Given the description of an element on the screen output the (x, y) to click on. 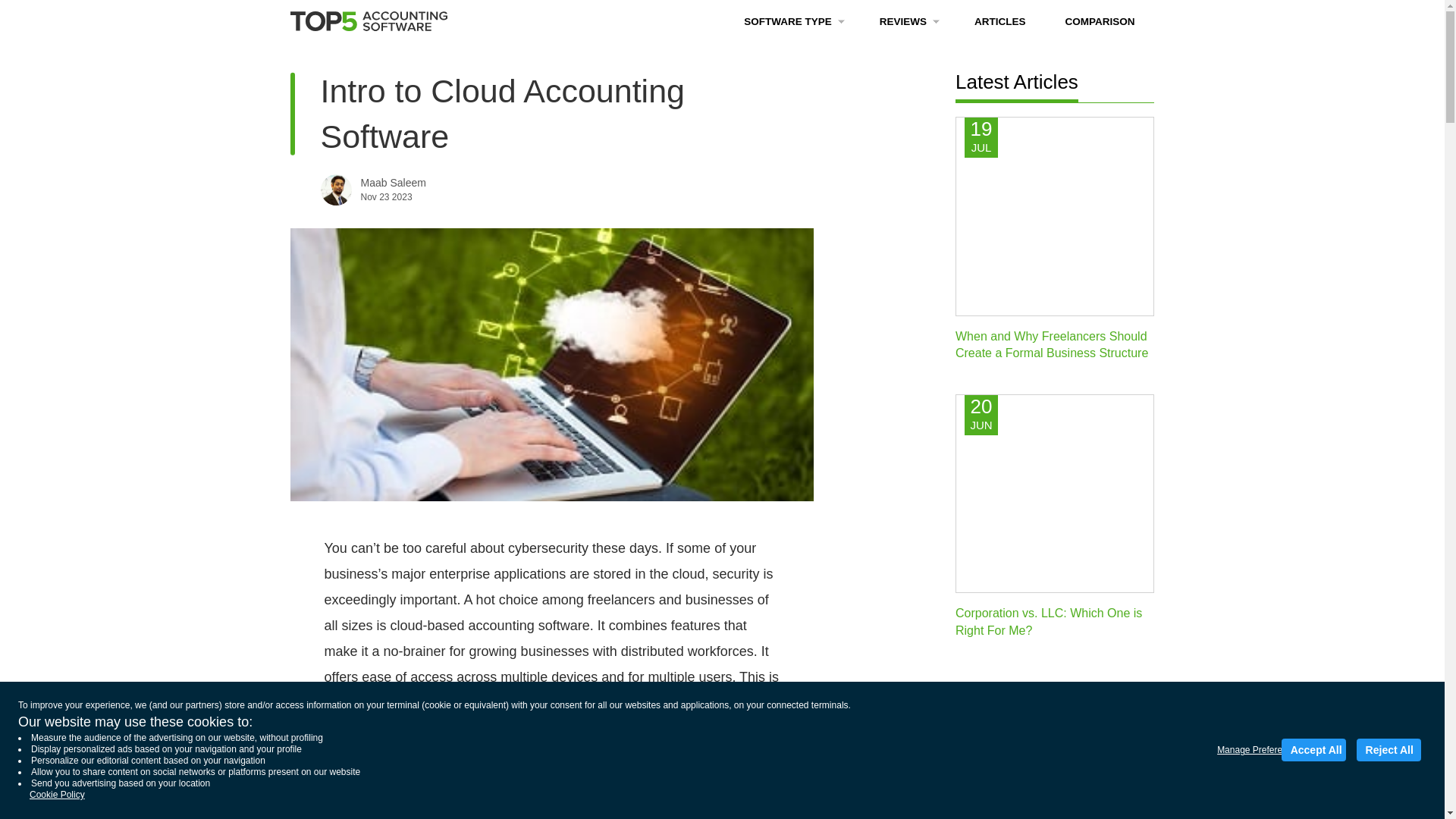
SOFTWARE TYPE (791, 21)
Reject All (1388, 749)
Manage Preferences (1240, 750)
COMPARISON (1099, 21)
REVIEWS (906, 21)
ARTICLES (999, 21)
Accept All (1313, 749)
Cookie Policy (56, 794)
